Given the description of an element on the screen output the (x, y) to click on. 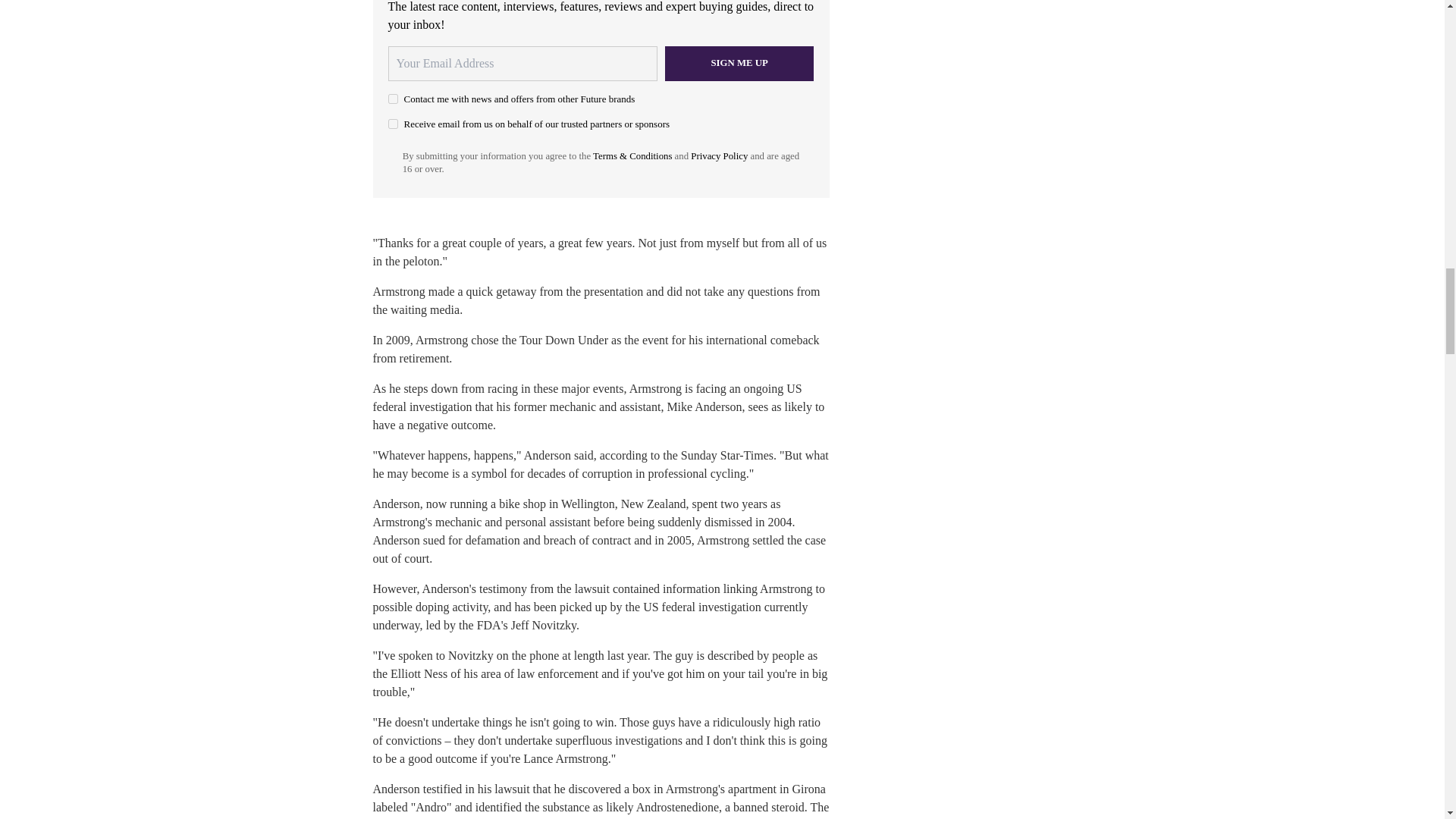
on (392, 99)
on (392, 123)
Sign me up (739, 63)
